Given the description of an element on the screen output the (x, y) to click on. 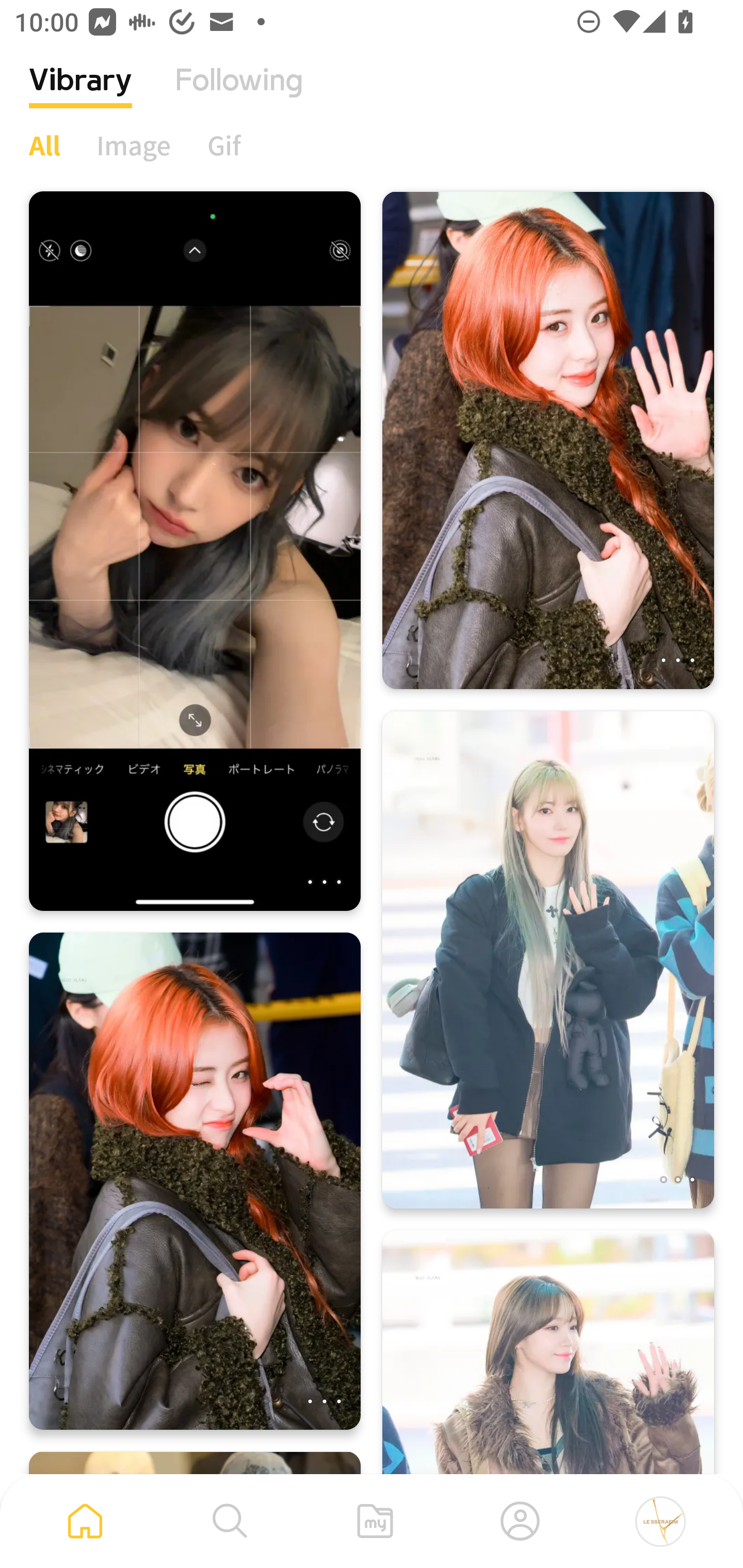
Vibrary (80, 95)
Following (239, 95)
All (44, 145)
Image (133, 145)
Gif (223, 145)
